Given the description of an element on the screen output the (x, y) to click on. 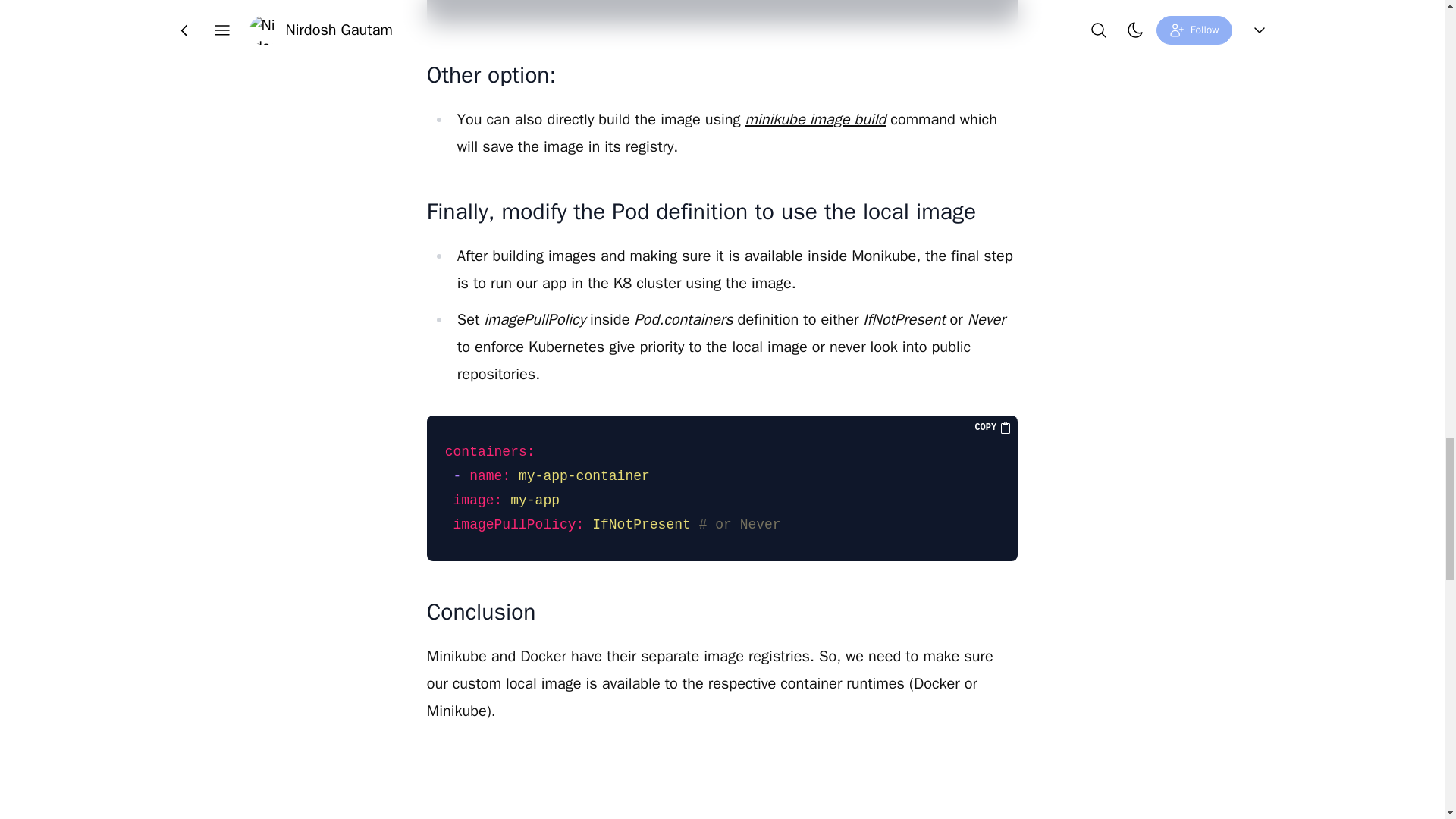
minikube image build (815, 118)
COPY (992, 427)
